Given the description of an element on the screen output the (x, y) to click on. 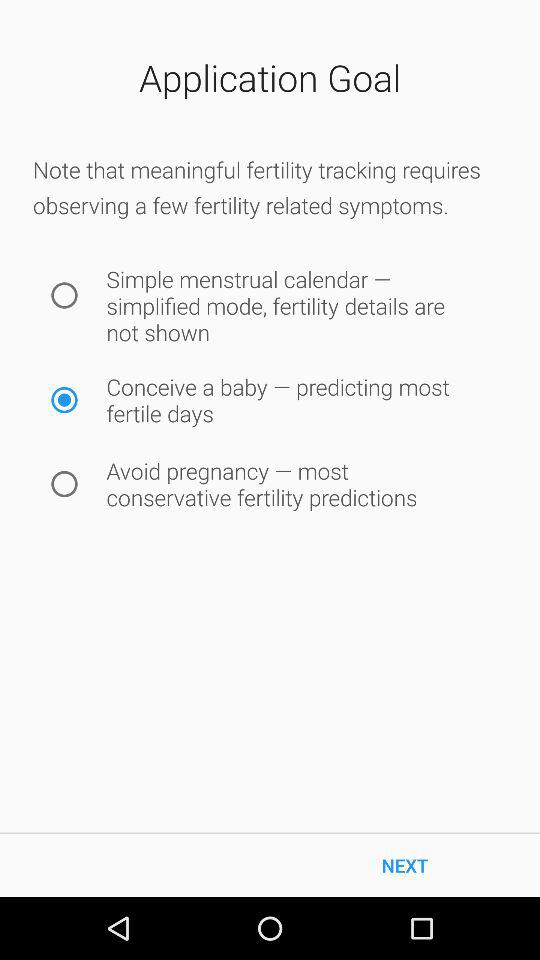
select simplifed menstraul calendar (64, 295)
